Given the description of an element on the screen output the (x, y) to click on. 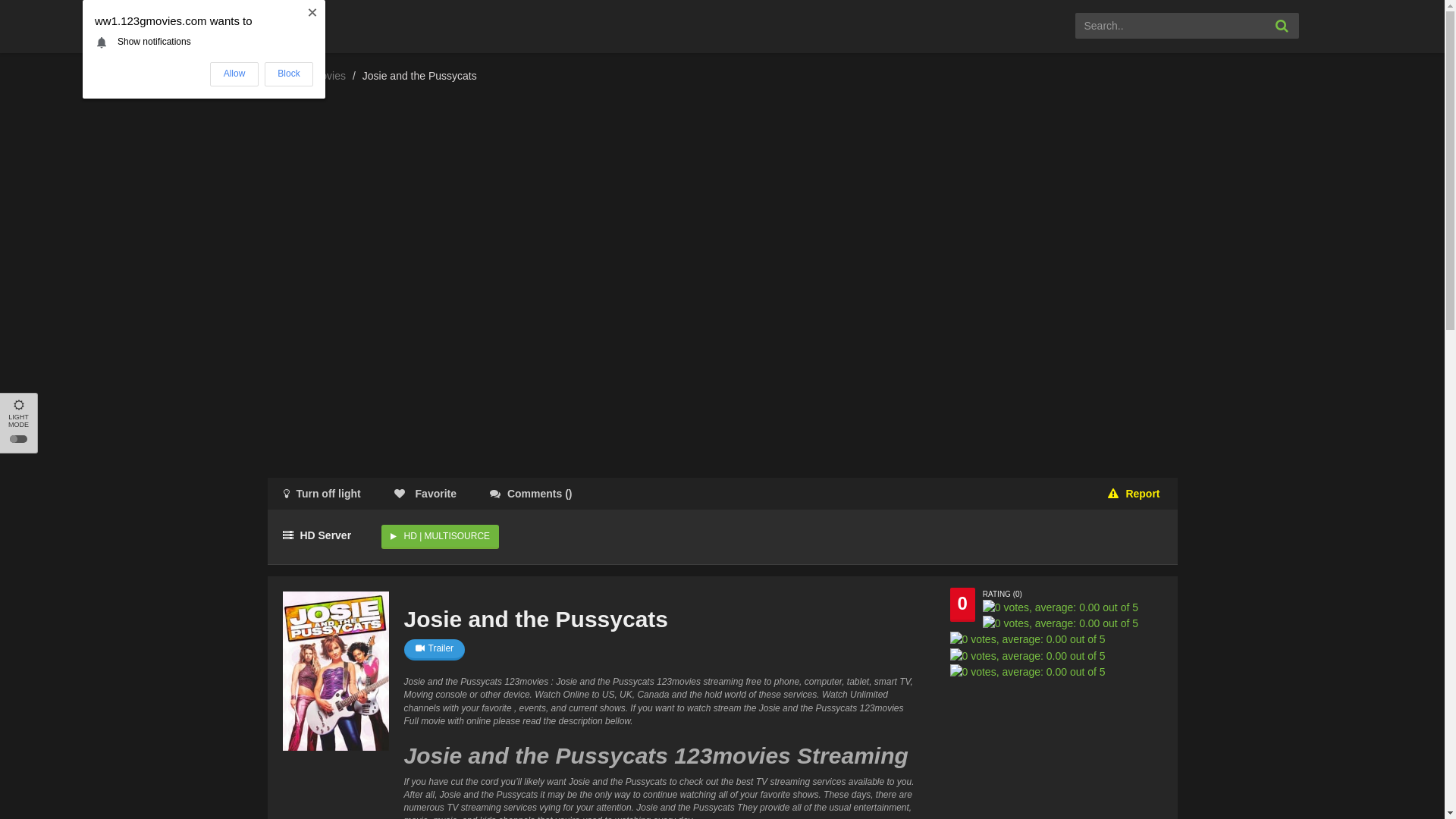
Trailer Element type: text (433, 649)
0 votes, average: 0.00 out of 5 Element type: hover (1026, 638)
Comments () Element type: text (530, 493)
0 votes, average: 0.00 out of 5 Element type: hover (1060, 607)
Report Element type: text (1133, 493)
0 votes, average: 0.00 out of 5 Element type: hover (1060, 622)
123GMovies Element type: hover (205, 24)
Turn off light Element type: text (321, 493)
0 votes, average: 0.00 out of 5 Element type: hover (1026, 655)
Movies Element type: text (328, 75)
Favorite Element type: text (425, 493)
Home Element type: text (280, 75)
HD | MULTISOURCE Element type: text (439, 536)
0 votes, average: 0.00 out of 5 Element type: hover (1026, 671)
